Given the description of an element on the screen output the (x, y) to click on. 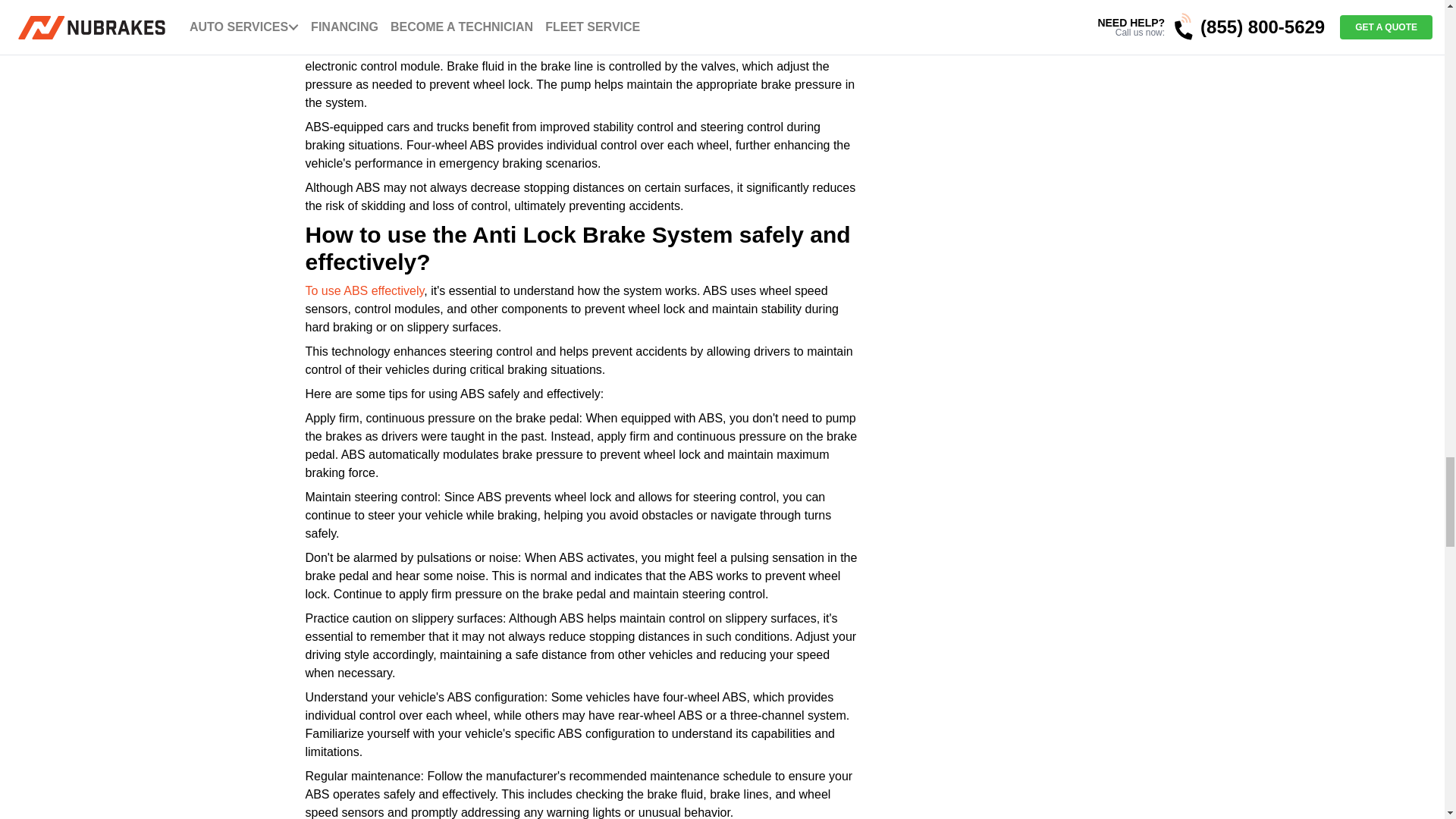
To use ABS effectively (363, 290)
